Given the description of an element on the screen output the (x, y) to click on. 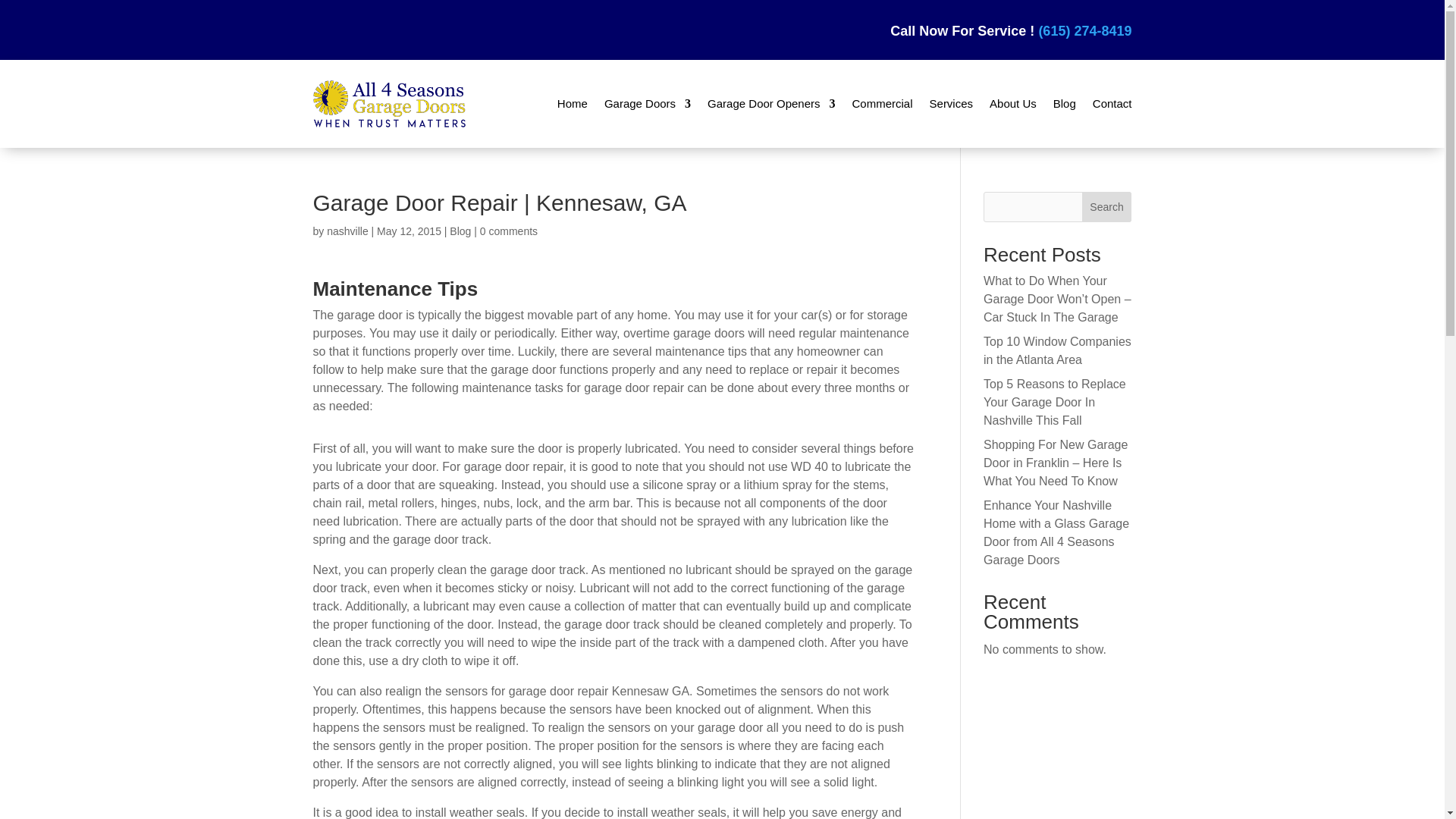
nashville (347, 231)
0 comments (508, 231)
Search (1106, 206)
Commercial (881, 103)
Posts by nashville (347, 231)
Top 10 Window Companies in the Atlanta Area (1057, 350)
Garage Doors (647, 103)
Blog (459, 231)
Garage Door Openers (770, 103)
